Given the description of an element on the screen output the (x, y) to click on. 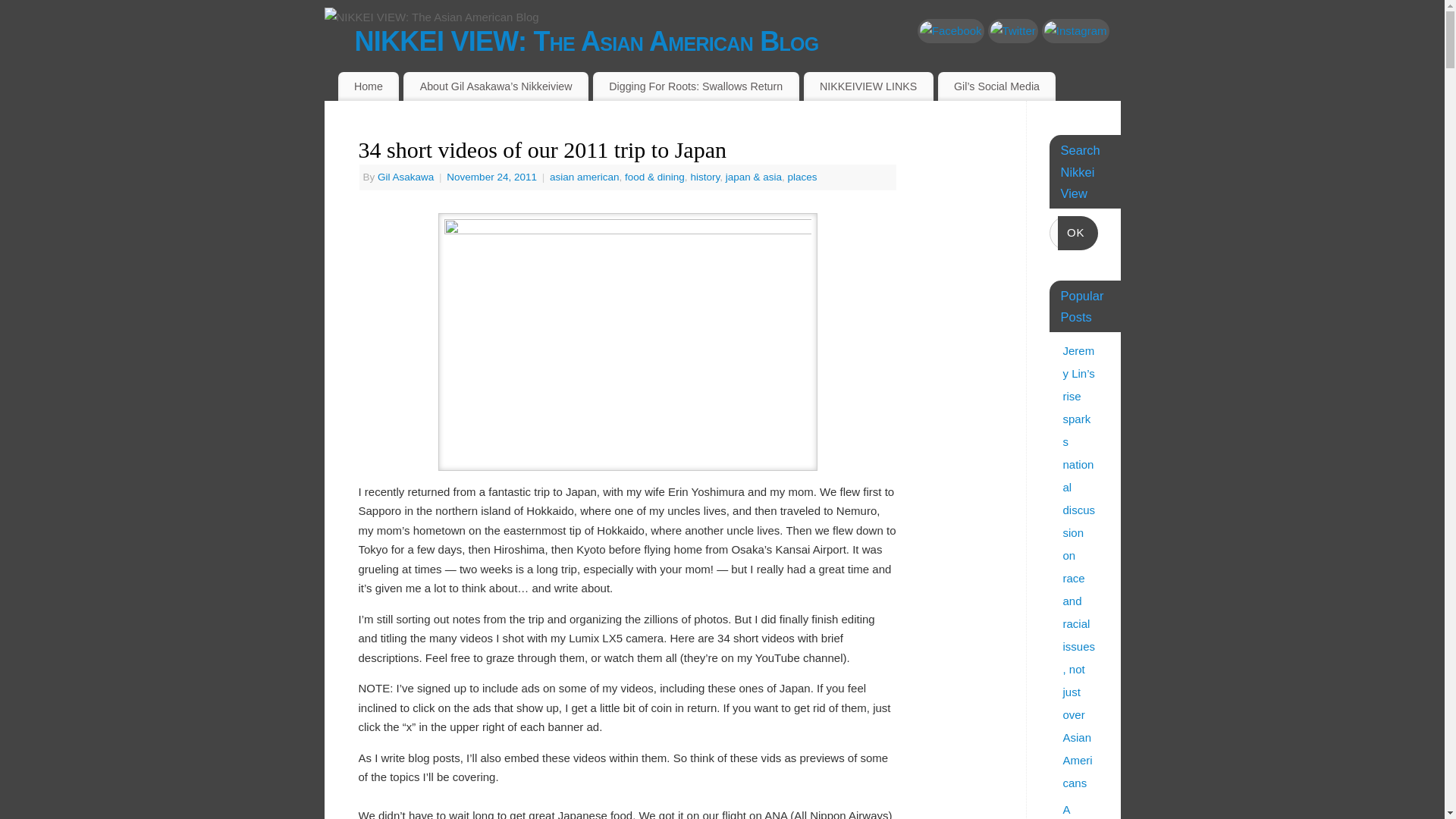
NIKKEI VIEW: The Asian American Blog (738, 41)
history (704, 176)
10:44 am (492, 176)
places (801, 176)
asian american (585, 176)
NIKKEIVIEW LINKS (868, 86)
Home (367, 86)
Facebook (950, 30)
Kinkakuji Temple in Kyoto, Japan  (627, 341)
Gil Asakawa (405, 176)
